Given the description of an element on the screen output the (x, y) to click on. 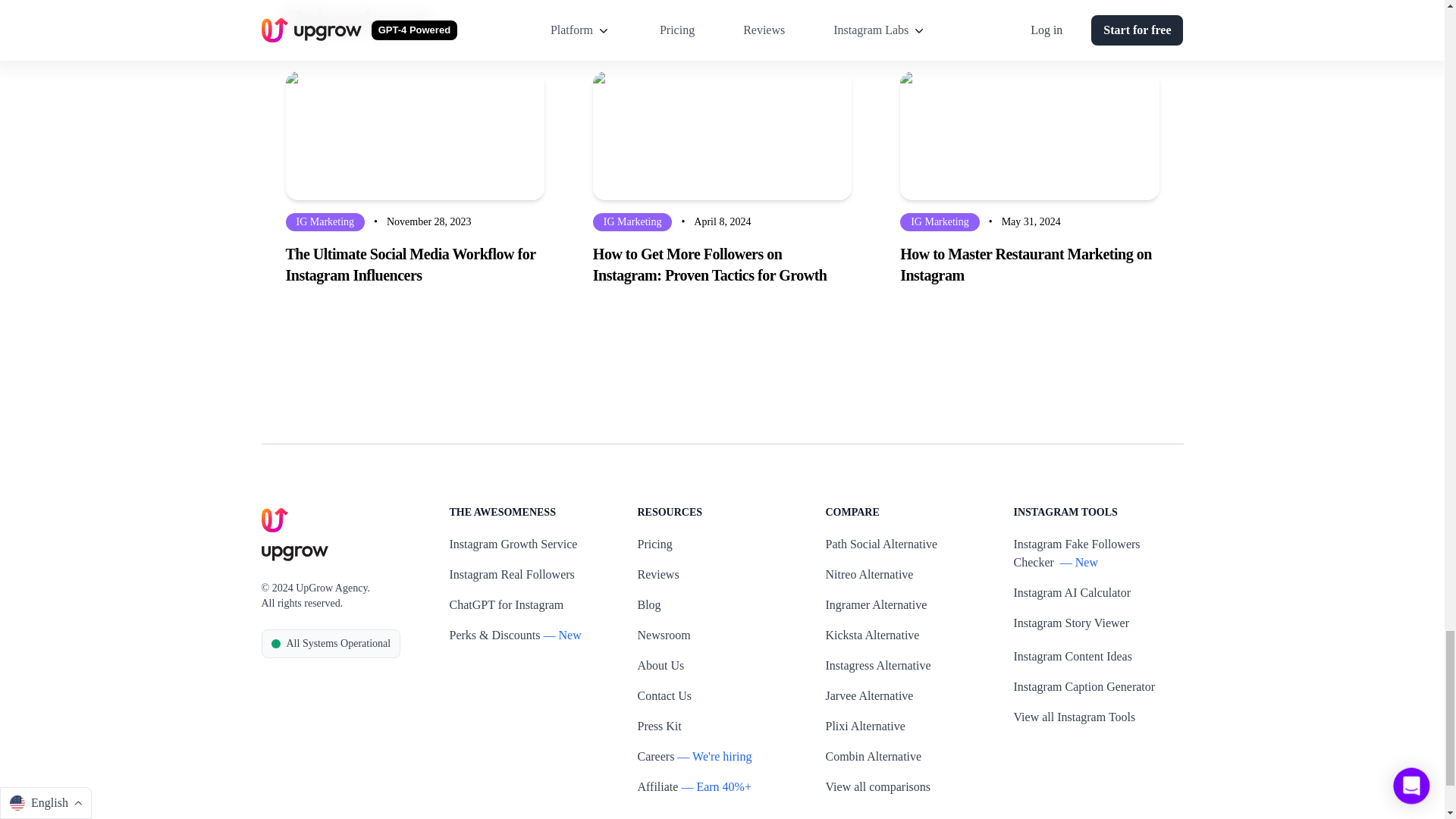
UpGrow logo icon (274, 519)
Blog (649, 605)
ChatGPT for Instagram (505, 605)
How to Master Restaurant Marketing on Instagram (1028, 264)
The Ultimate Social Media Workflow for Instagram Influencers (414, 264)
UpGrow's Careers Page (655, 756)
Instagram Real Followers (510, 574)
UpGrow's Press Kit (659, 726)
All Systems Operational (331, 643)
Reviews (657, 574)
IG Marketing (632, 221)
IG Marketing (939, 221)
IG Marketing (325, 221)
Instagram Growth Service (512, 544)
